Given the description of an element on the screen output the (x, y) to click on. 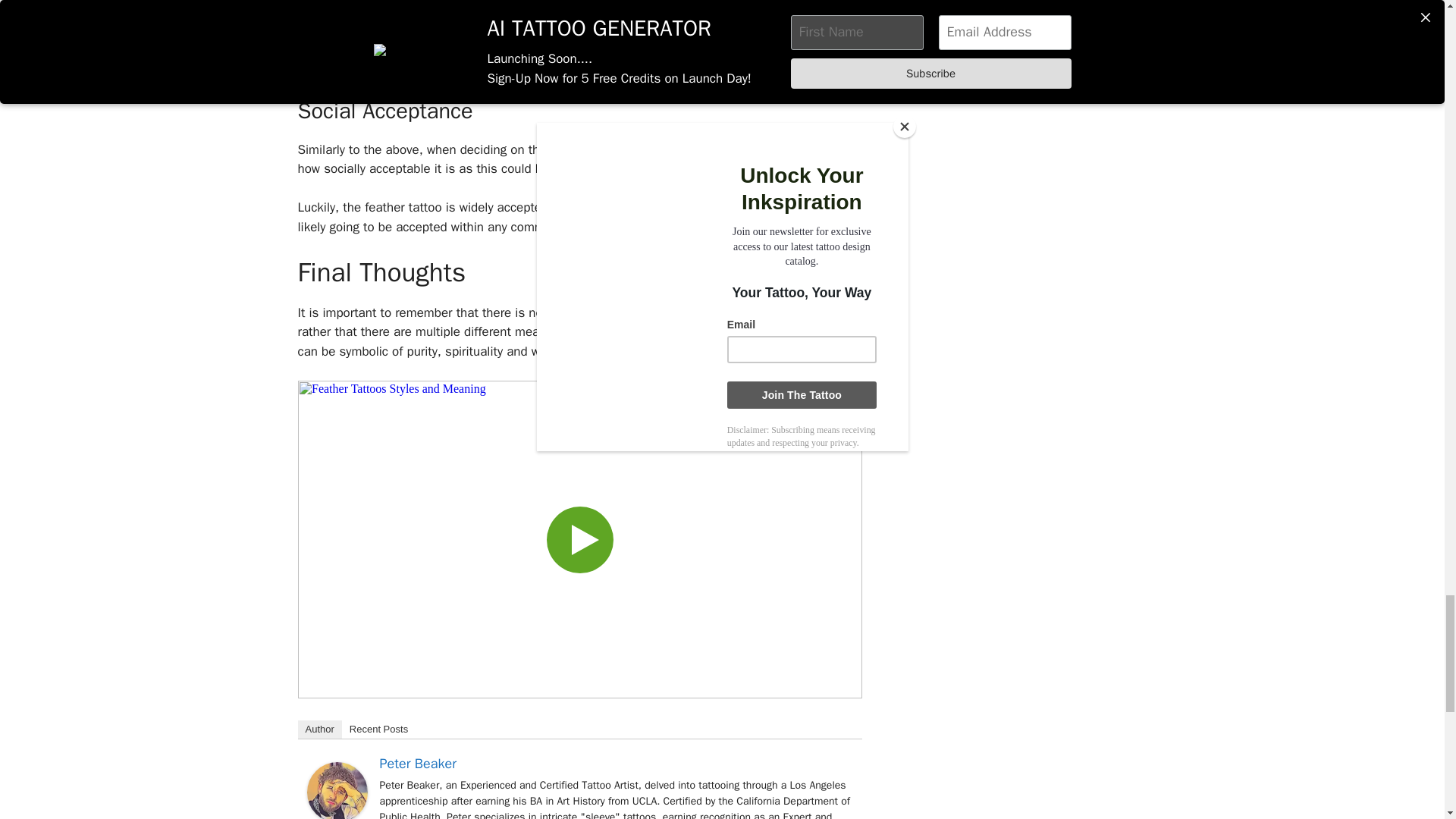
Peter Beaker (335, 814)
